Given the description of an element on the screen output the (x, y) to click on. 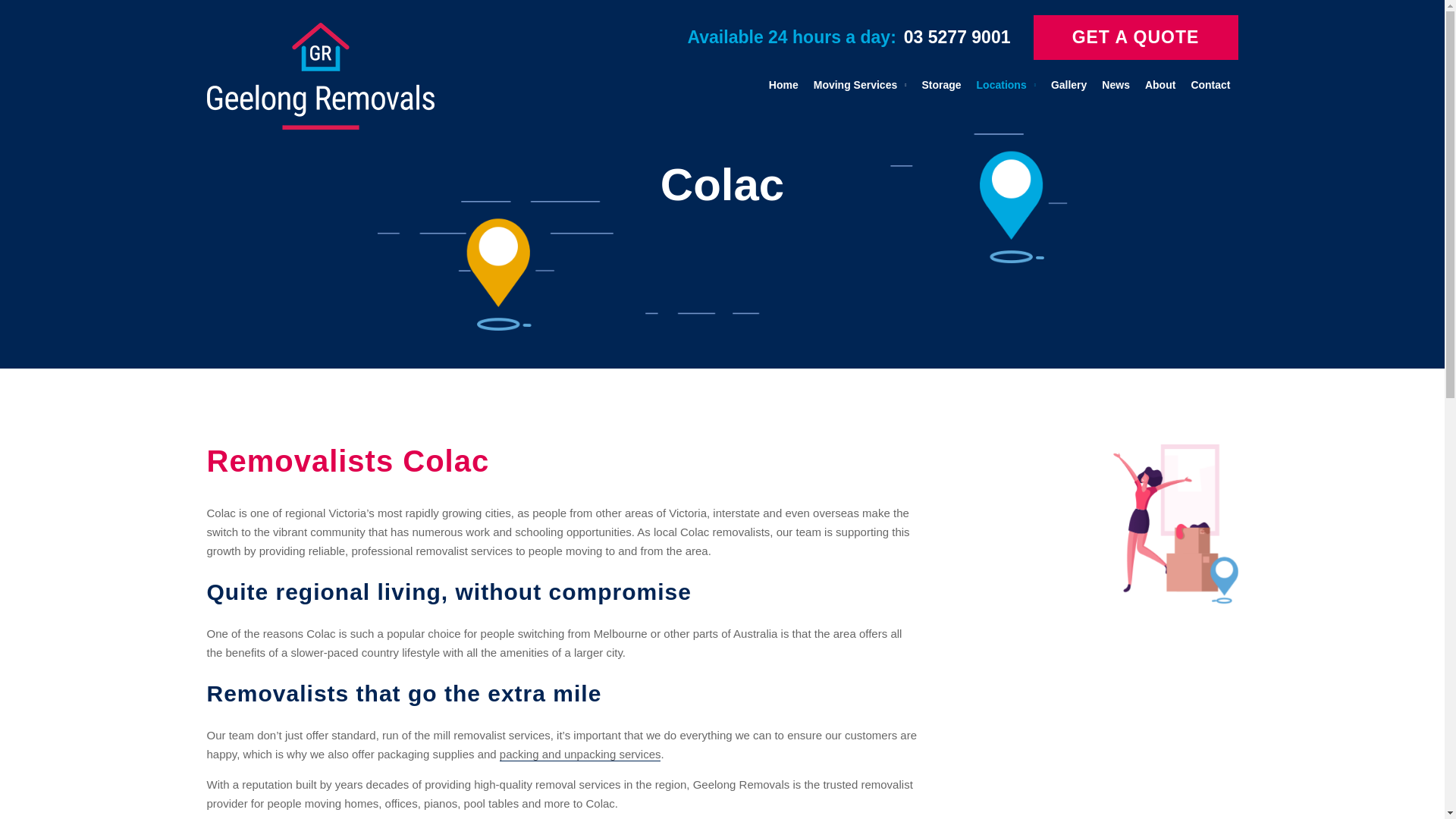
GET A QUOTE (1134, 37)
03 5277 9001 (957, 37)
packing and unpacking services (580, 754)
